Given the description of an element on the screen output the (x, y) to click on. 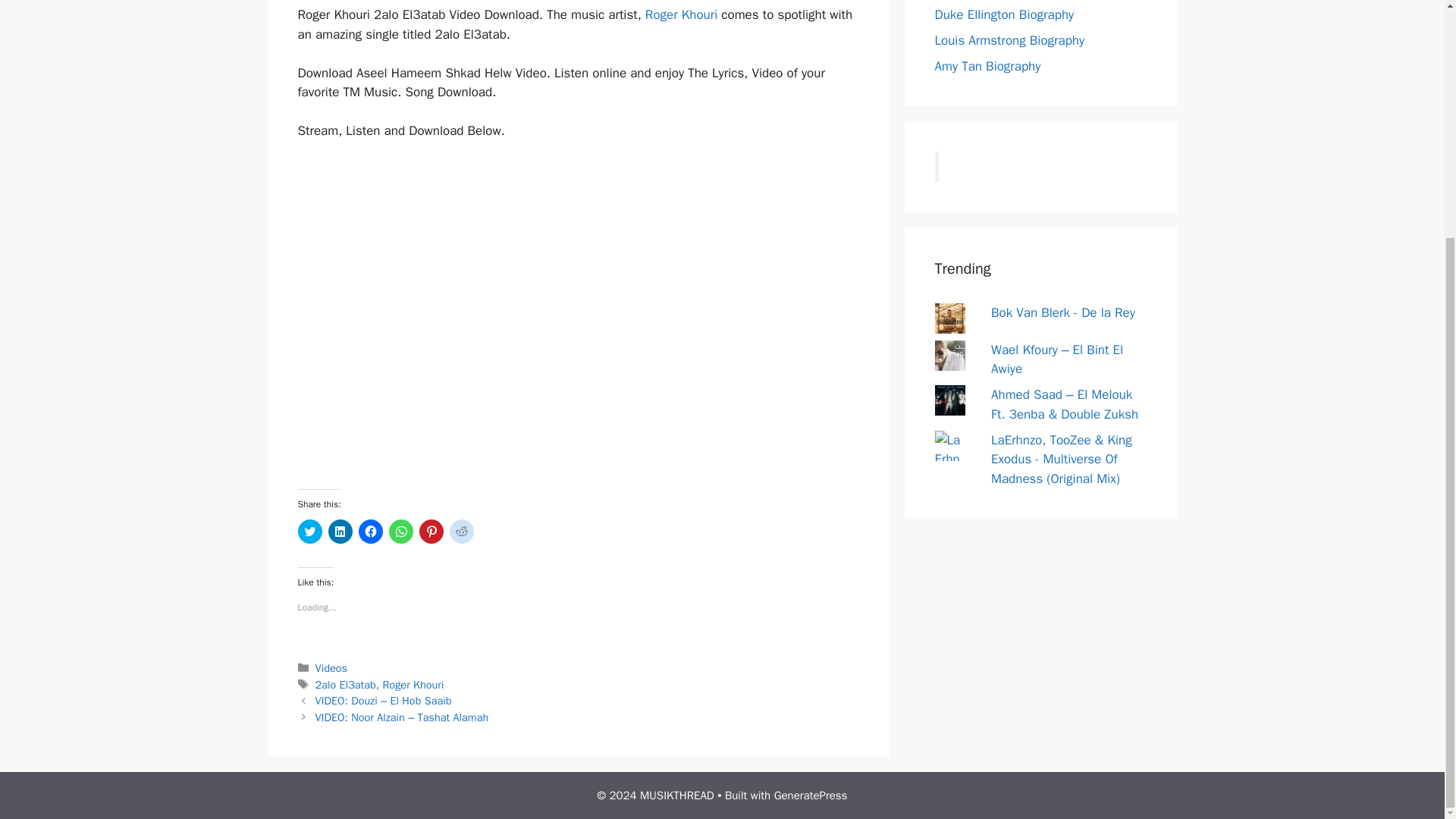
GeneratePress (810, 795)
Roger Khouri (412, 684)
Click to share on WhatsApp (400, 531)
Duke Ellington Biography (1004, 14)
Roger Khouri (681, 14)
Amy Tan Biography (987, 66)
Click to share on Pinterest (430, 531)
Click to share on Twitter (309, 531)
Videos (331, 667)
2alo El3atab (345, 684)
